Given the description of an element on the screen output the (x, y) to click on. 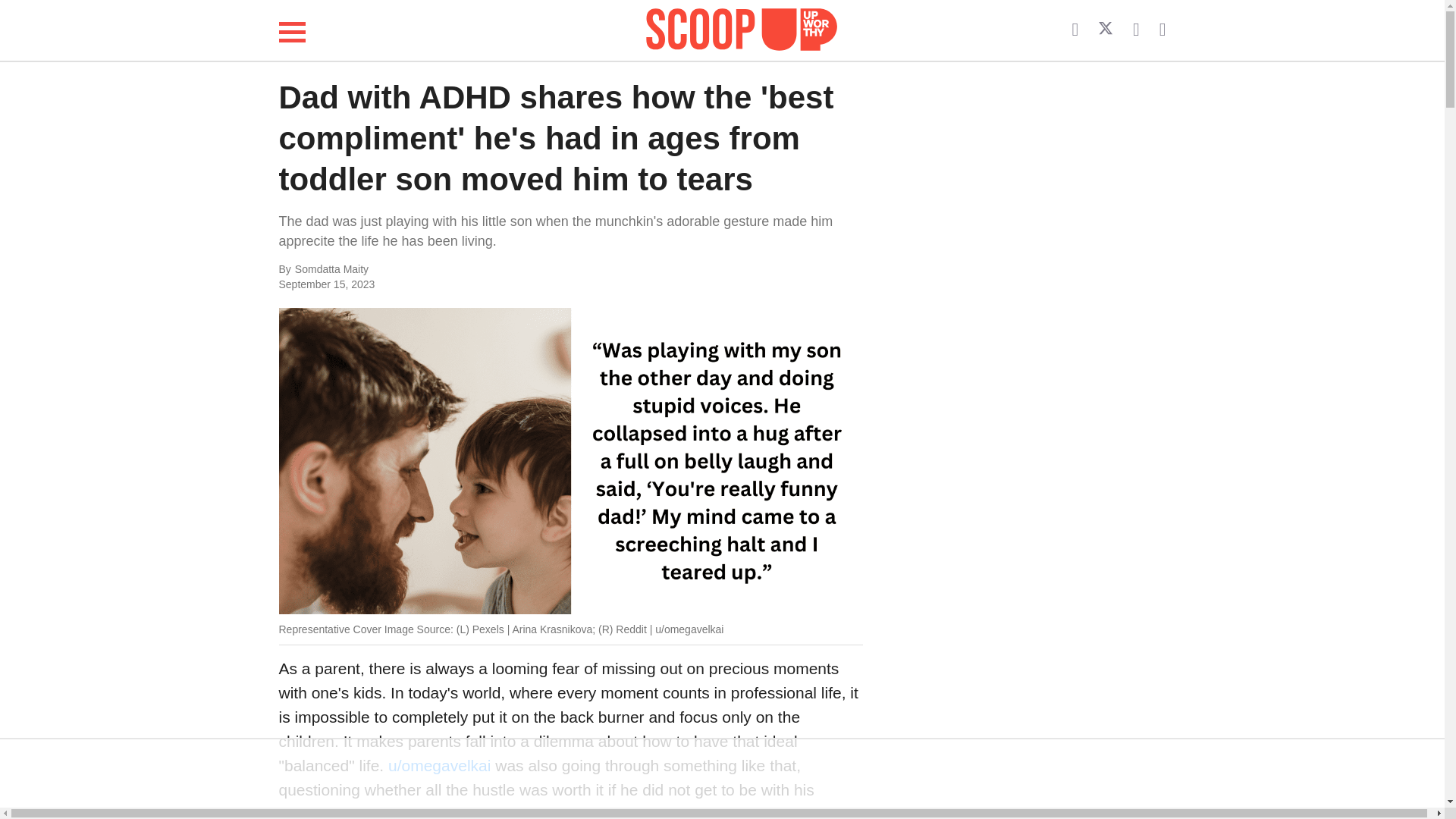
Somdatta Maity (445, 269)
SCOOP UPWORTHY (741, 29)
SCOOP UPWORTHY (741, 27)
